Given the description of an element on the screen output the (x, y) to click on. 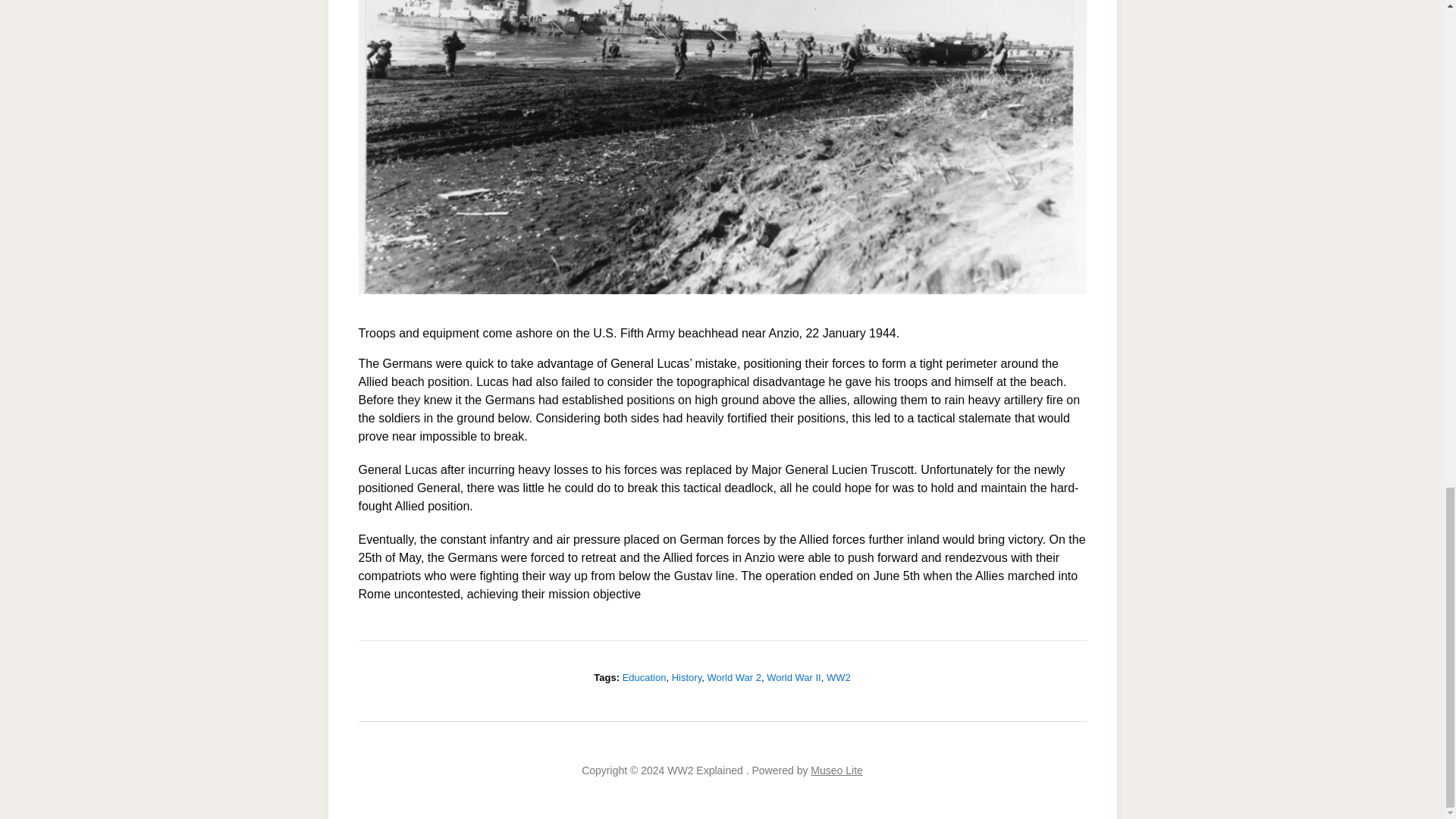
World War 2 (733, 677)
Education (644, 677)
World War II (794, 677)
History (686, 677)
WW2 (838, 677)
Museo Lite (835, 770)
